Given the description of an element on the screen output the (x, y) to click on. 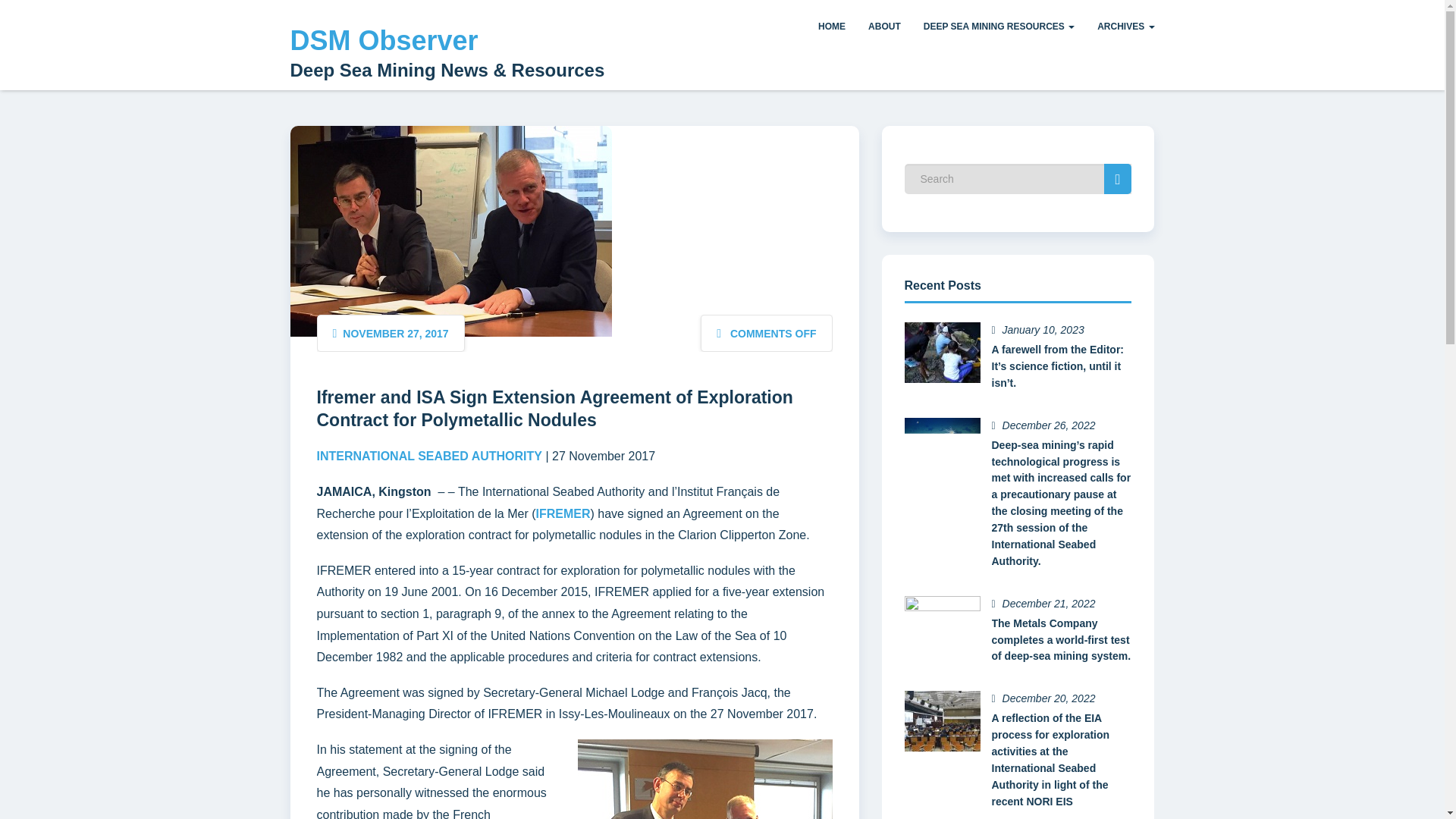
Deep Sea Mining Resources (999, 27)
DSM Observer (383, 40)
Archives (1126, 27)
ARCHIVES (1126, 27)
INTERNATIONAL SEABED AUTHORITY (429, 455)
DSM Observer (383, 40)
Home (831, 27)
About (884, 27)
HOME (831, 27)
IFREMER (563, 513)
